Given the description of an element on the screen output the (x, y) to click on. 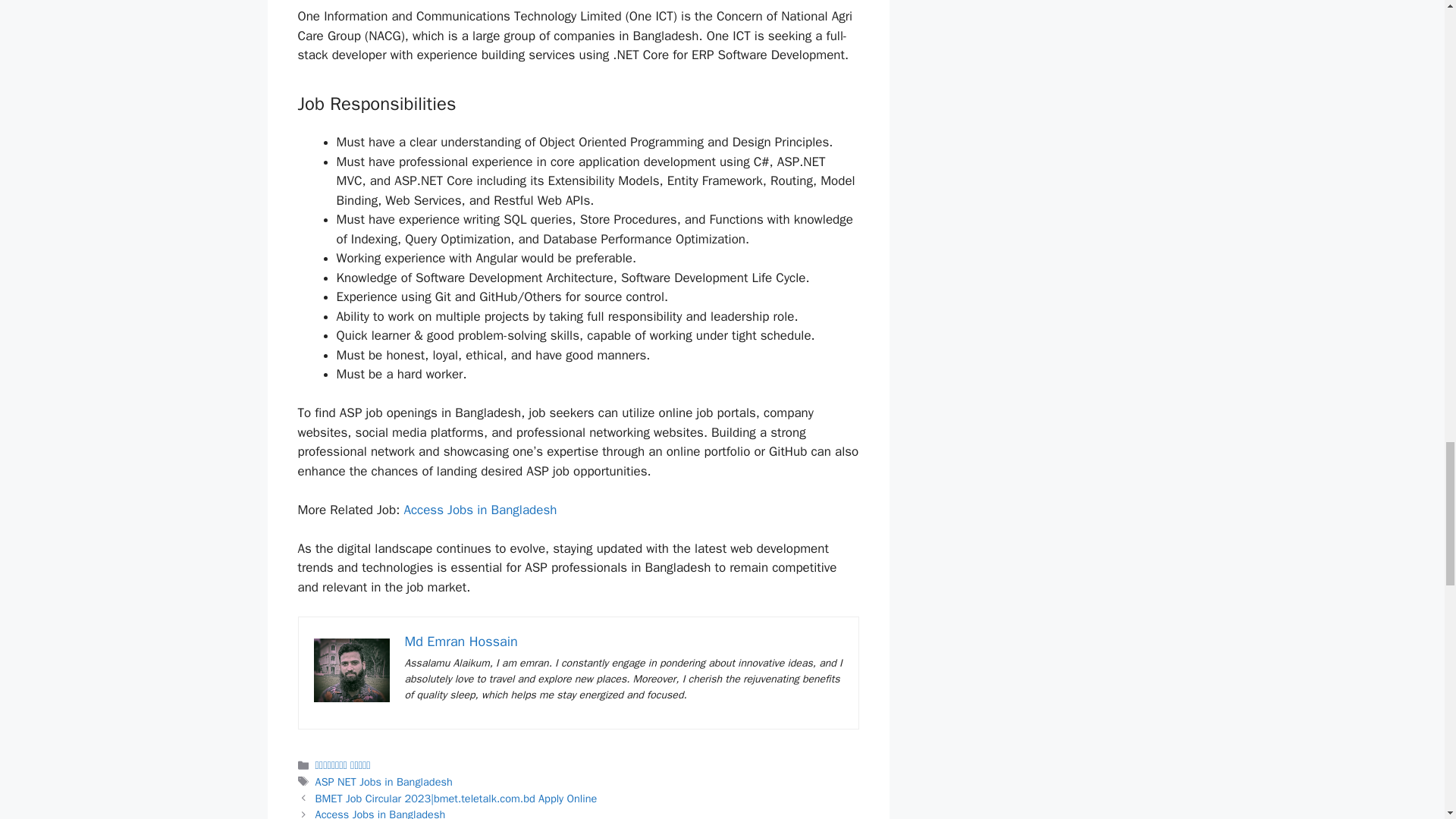
Access Jobs in Bangladesh (479, 509)
Md Emran Hossain (461, 641)
ASP NET Jobs in Bangladesh (383, 781)
Access Jobs in Bangladesh (380, 813)
